Given the description of an element on the screen output the (x, y) to click on. 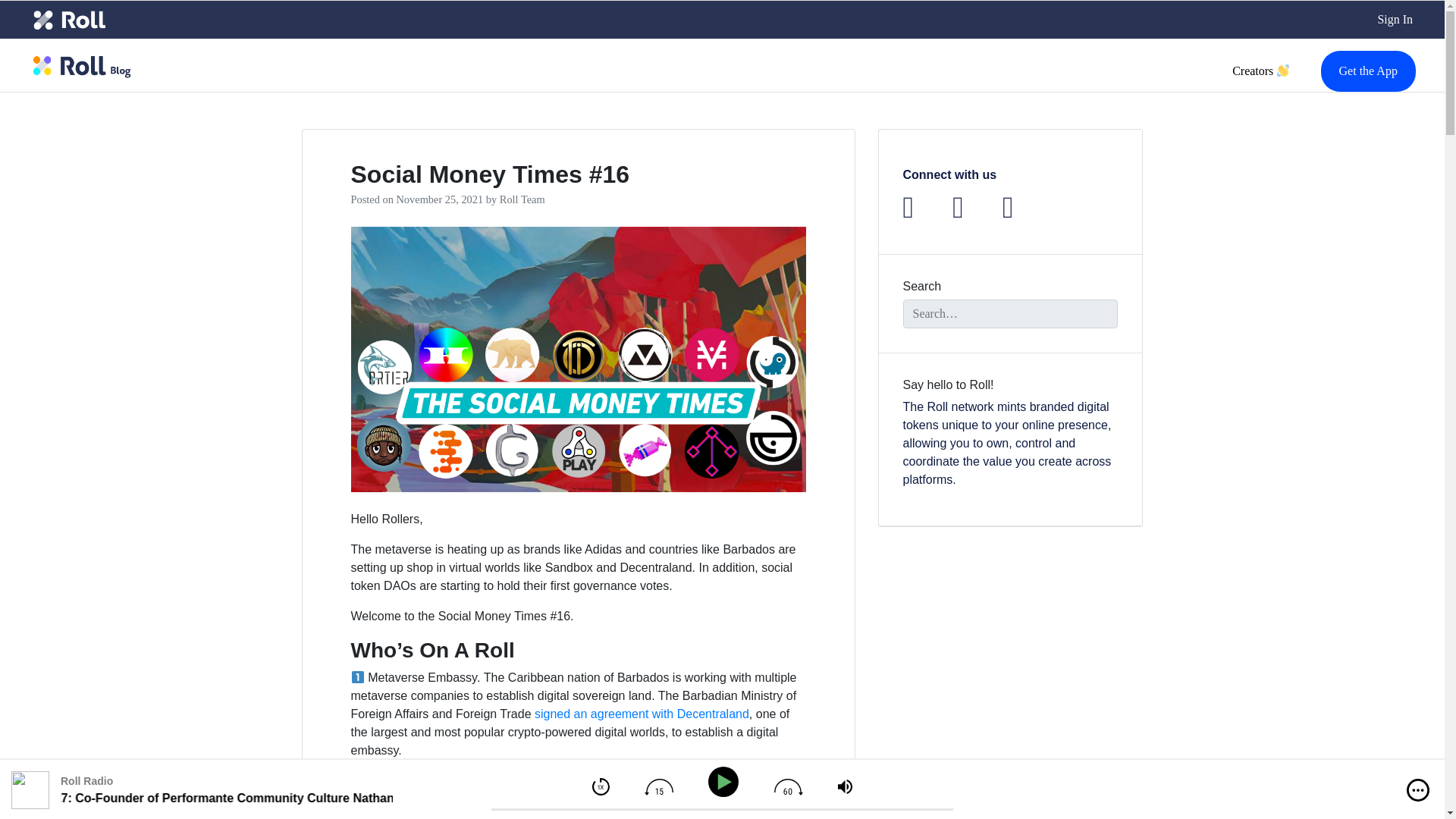
Creators (1260, 70)
Back 15 seconds (658, 786)
More (1417, 789)
signed an agreement with Decentraland (641, 713)
November 25, 2021 (439, 199)
announcing a partnership (704, 798)
Forward 60 seconds (788, 786)
Speed: Normal (601, 786)
Roll Team (521, 199)
Sign In (1394, 19)
Get the App (1367, 70)
